Given the description of an element on the screen output the (x, y) to click on. 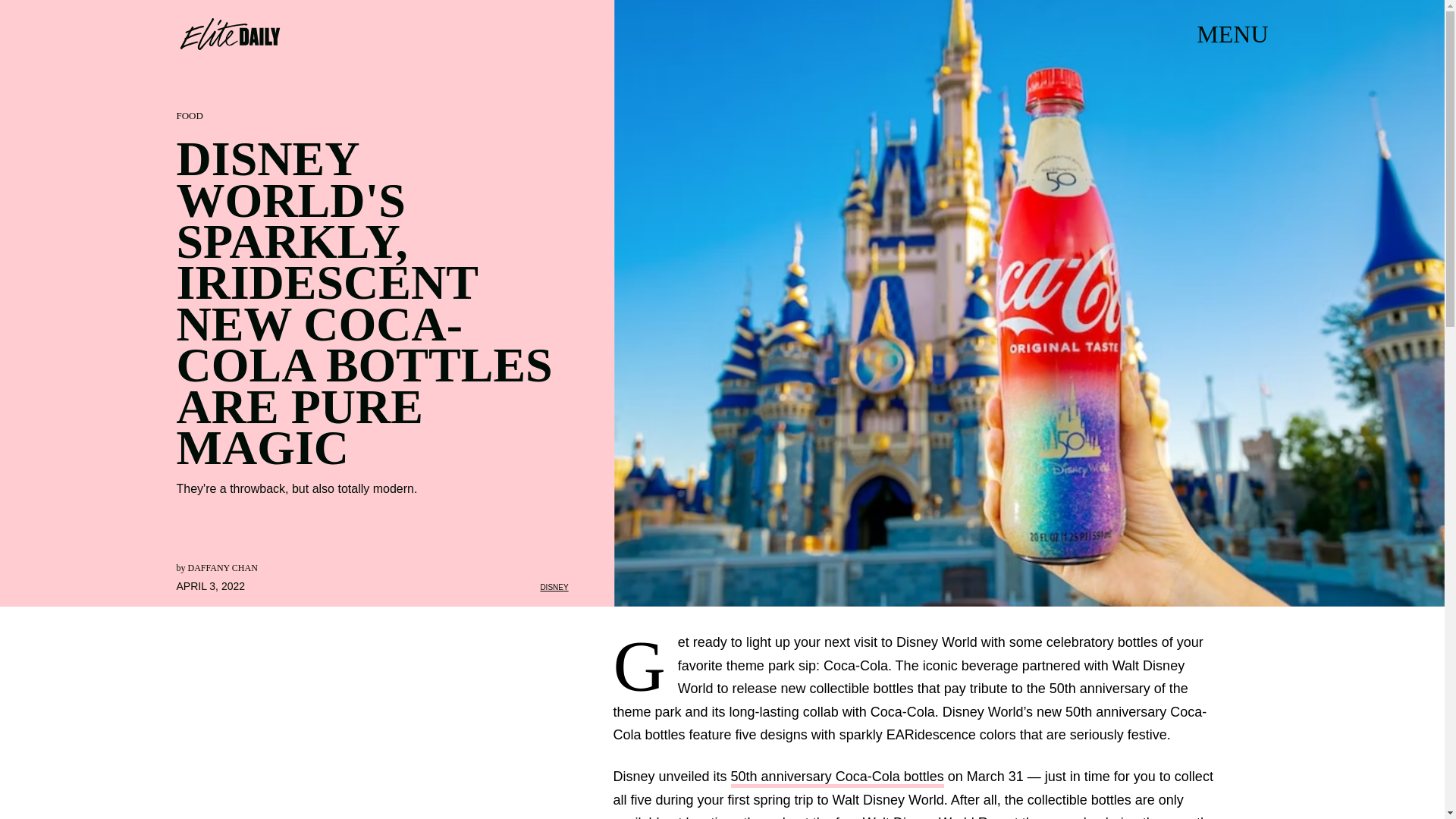
Elite Daily (229, 33)
DISNEY (553, 587)
50th anniversary Coca-Cola bottles (836, 778)
